Given the description of an element on the screen output the (x, y) to click on. 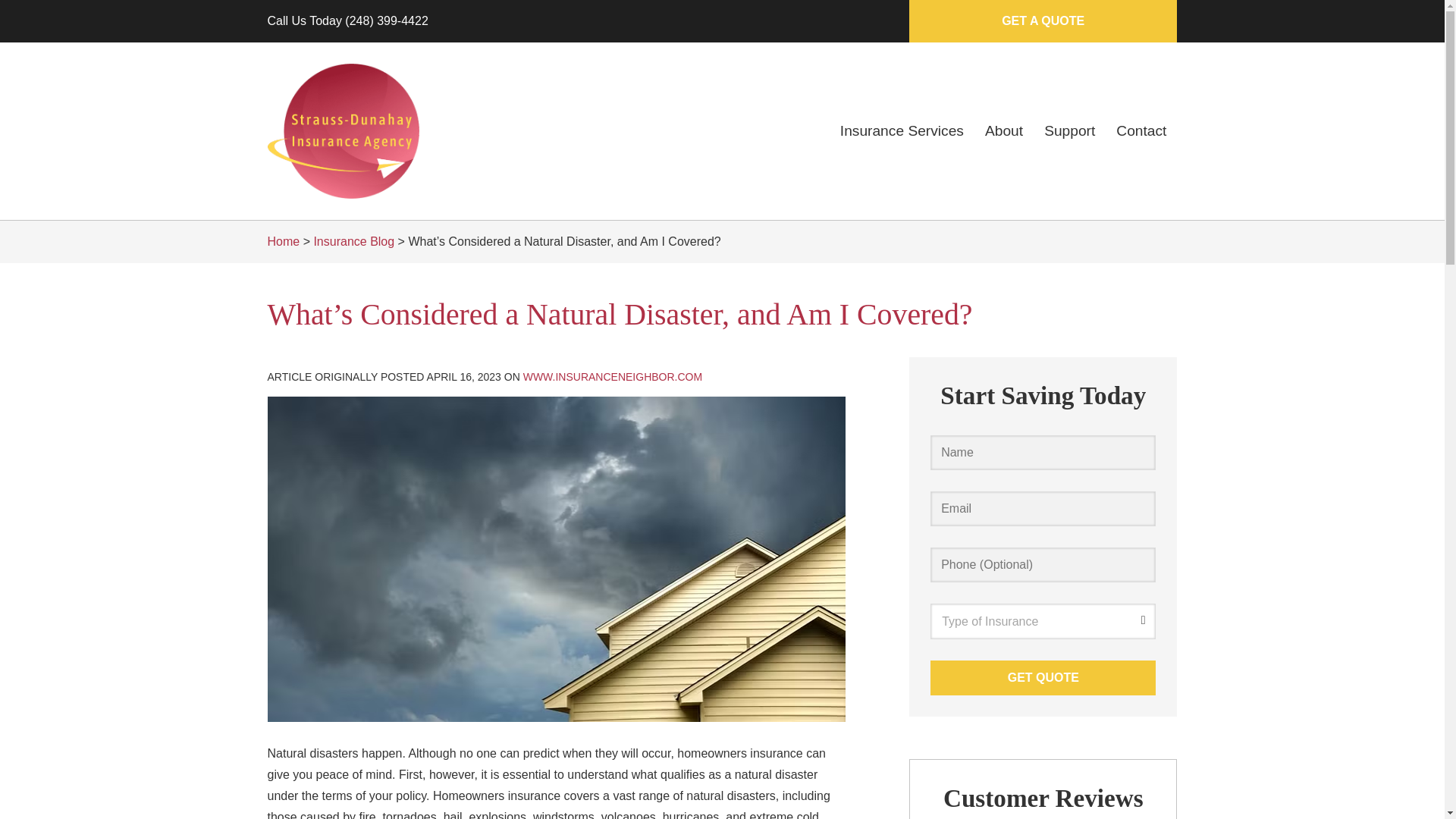
Support (1069, 130)
Insurance Services (901, 130)
Contact (1140, 130)
Strauss-Dunahay (342, 131)
Get Quote (1043, 677)
GET A QUOTE (1042, 21)
About (1003, 130)
